Given the description of an element on the screen output the (x, y) to click on. 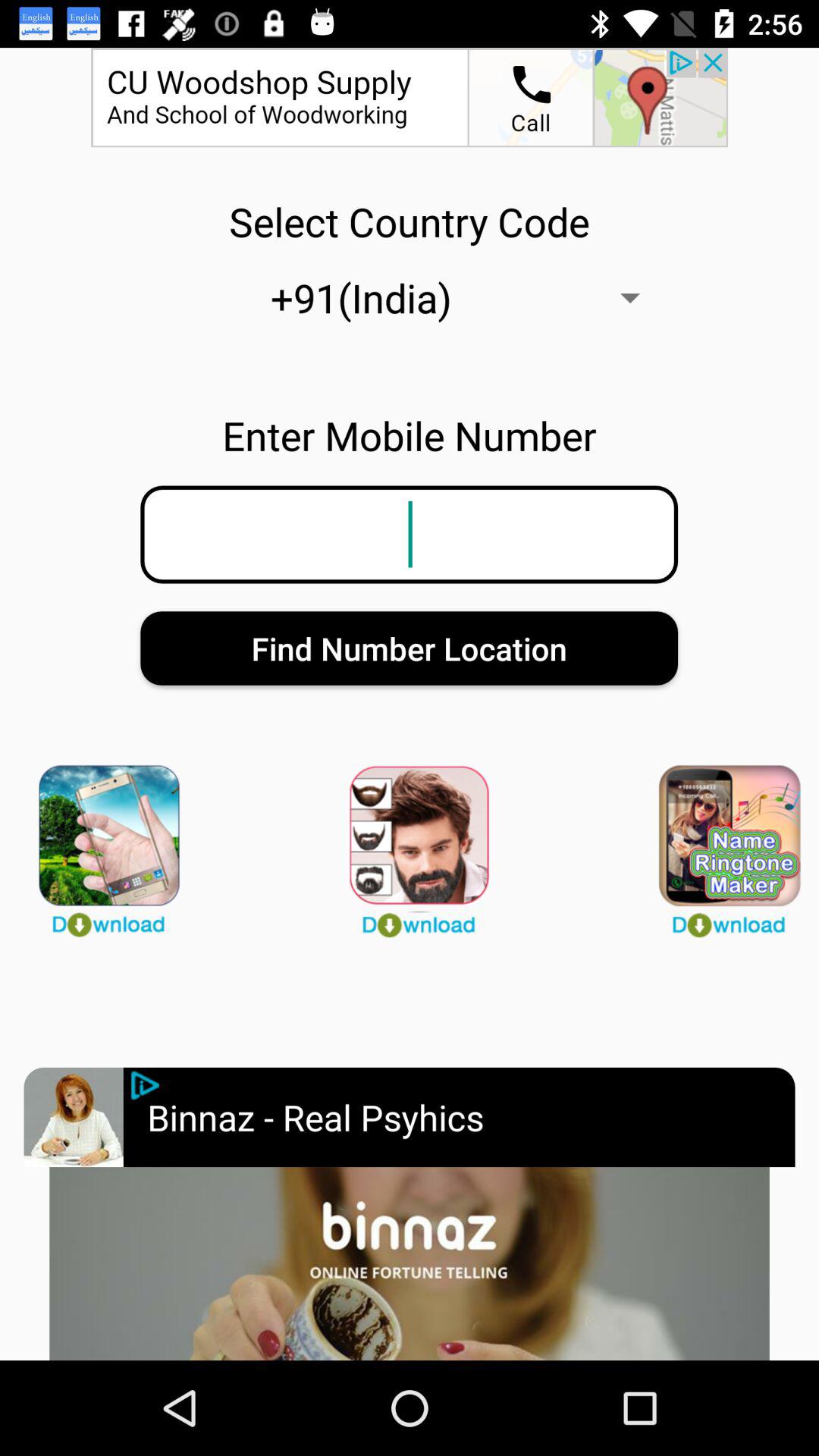
press beard advertisement (409, 844)
